Given the description of an element on the screen output the (x, y) to click on. 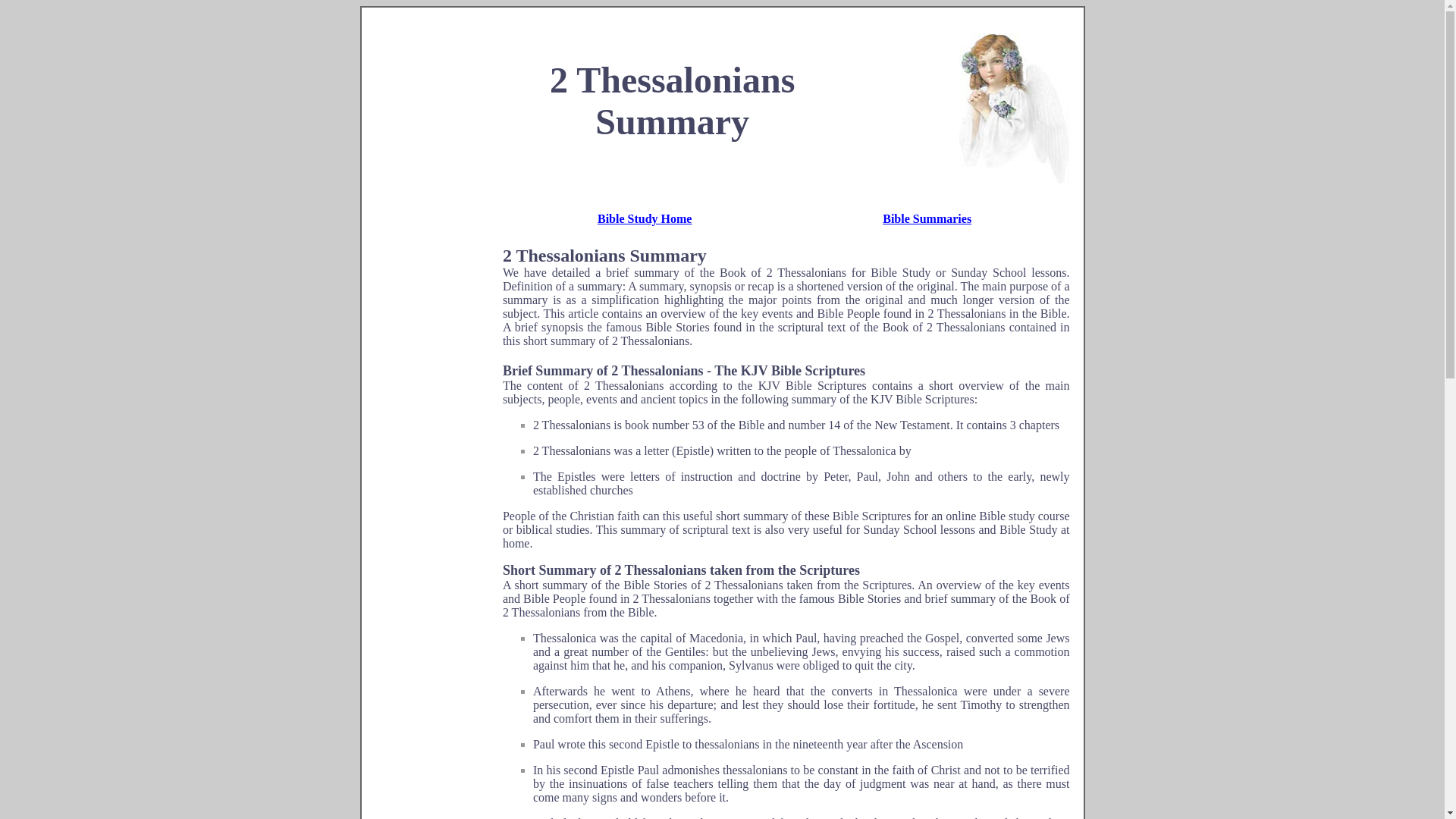
Bible Study Home (643, 218)
Bible Summaries (926, 218)
